Given the description of an element on the screen output the (x, y) to click on. 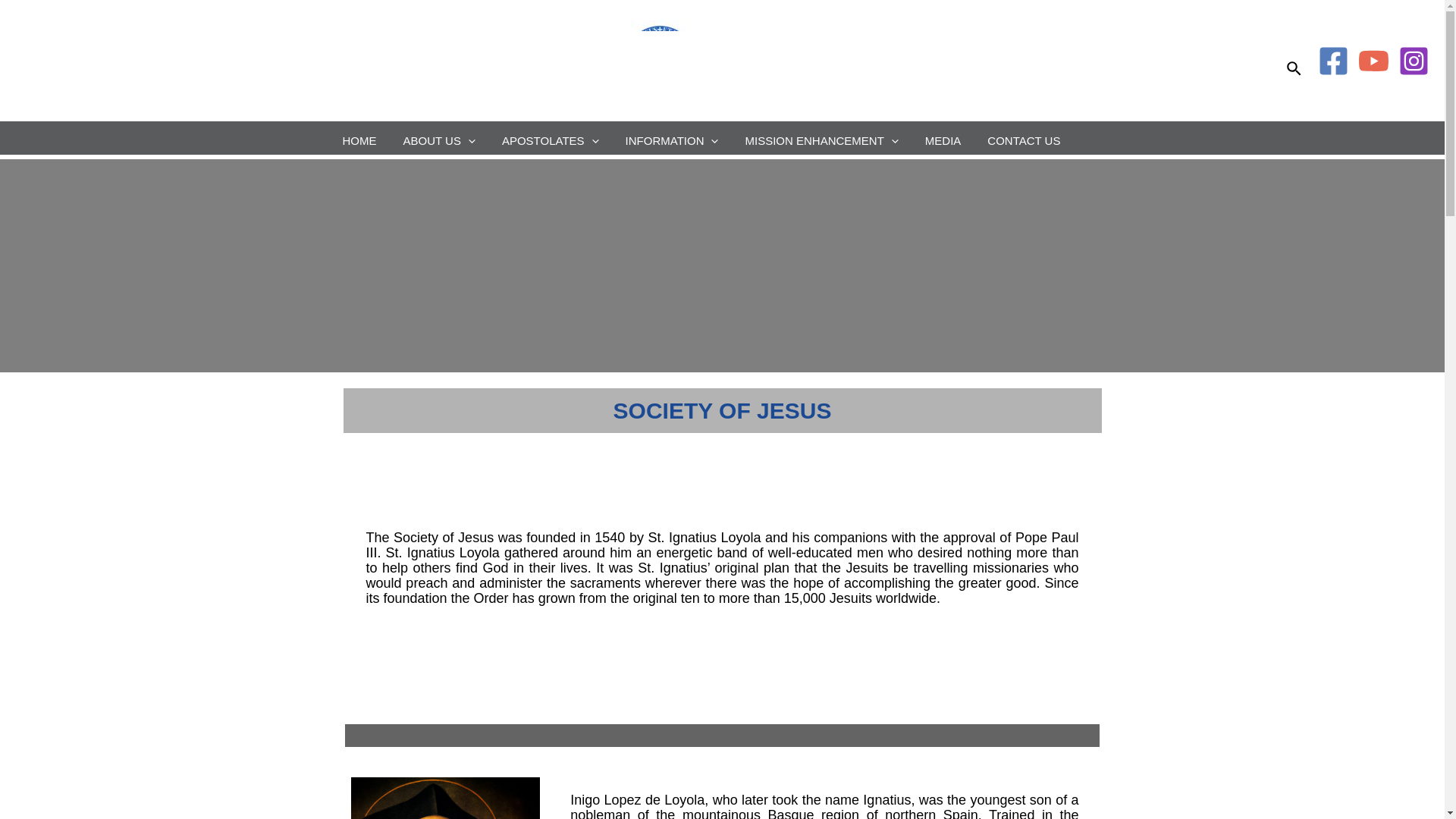
MISSION ENHANCEMENT (822, 137)
INFORMATION (673, 137)
ABOUT US (440, 137)
CONTACT US (1025, 137)
HOME (361, 137)
APOSTOLATES (552, 137)
MEDIA (945, 137)
